Given the description of an element on the screen output the (x, y) to click on. 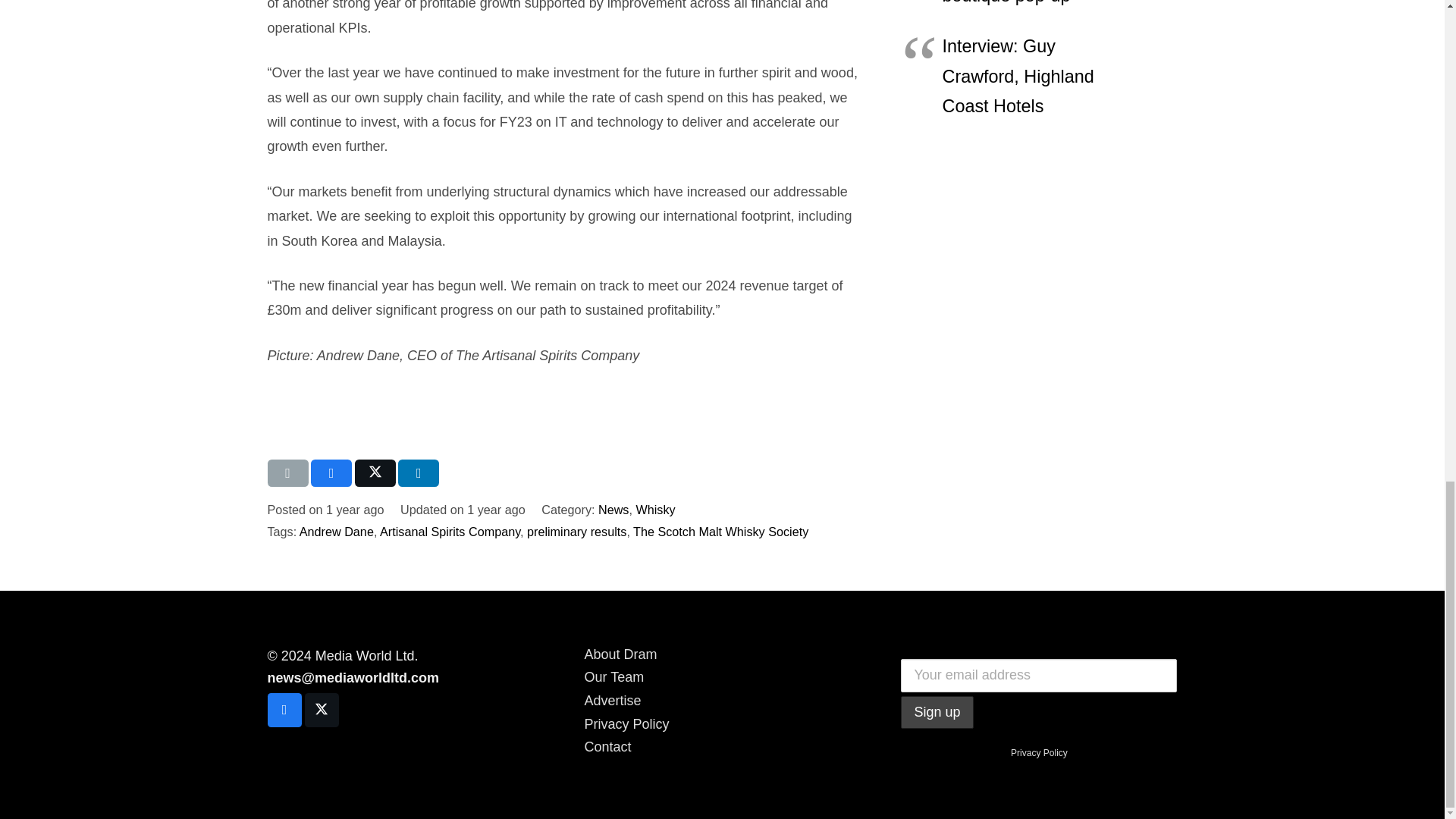
Artisanal Spirits Company (449, 531)
The Scotch Malt Whisky Society (720, 531)
Twitter (321, 709)
Facebook (283, 709)
Sign up (936, 712)
Share this (331, 472)
Email this (286, 472)
Share this (418, 472)
preliminary results (576, 531)
Tweet this (375, 472)
